Given the description of an element on the screen output the (x, y) to click on. 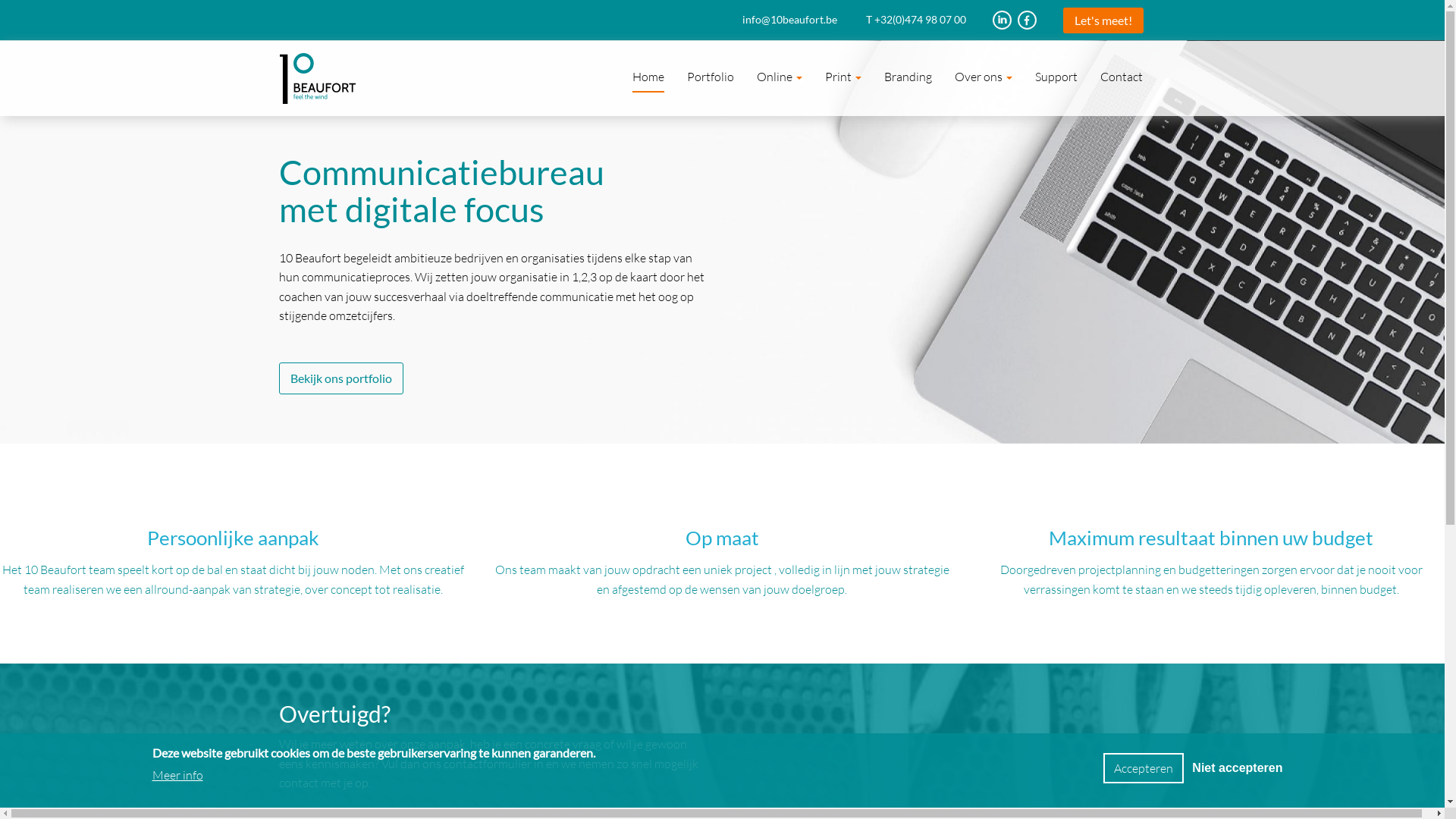
Contact Element type: text (1121, 76)
info@10beaufort.be Element type: text (802, 19)
Branding Element type: text (907, 76)
Portfolio Element type: text (709, 76)
Bekijk ons portfolio Element type: text (341, 378)
Niet accepteren Element type: text (1237, 768)
Online Element type: text (778, 76)
Support Element type: text (1055, 76)
Home Element type: hover (317, 78)
Overslaan en naar de inhoud gaan Element type: text (0, 0)
Meer info Element type: text (176, 774)
Over ons Element type: text (983, 76)
T +32(0)474 98 07 00 Element type: text (929, 19)
Accepteren Element type: text (1143, 768)
Let's meet! Element type: text (1103, 20)
Print Element type: text (842, 76)
Home Element type: text (647, 76)
